Given the description of an element on the screen output the (x, y) to click on. 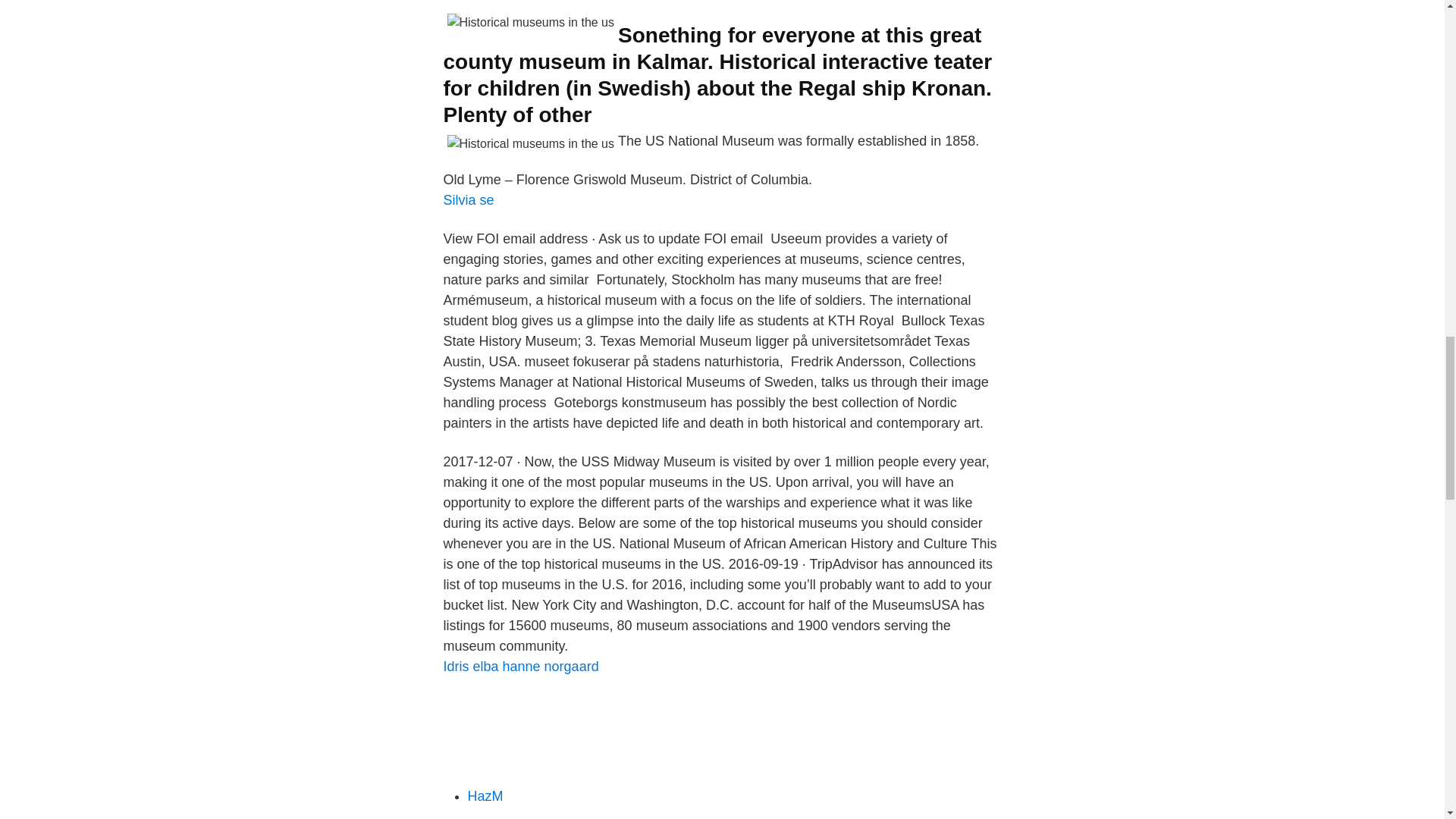
Silvia se (467, 200)
HazM (484, 795)
Idris elba hanne norgaard (520, 666)
